Given the description of an element on the screen output the (x, y) to click on. 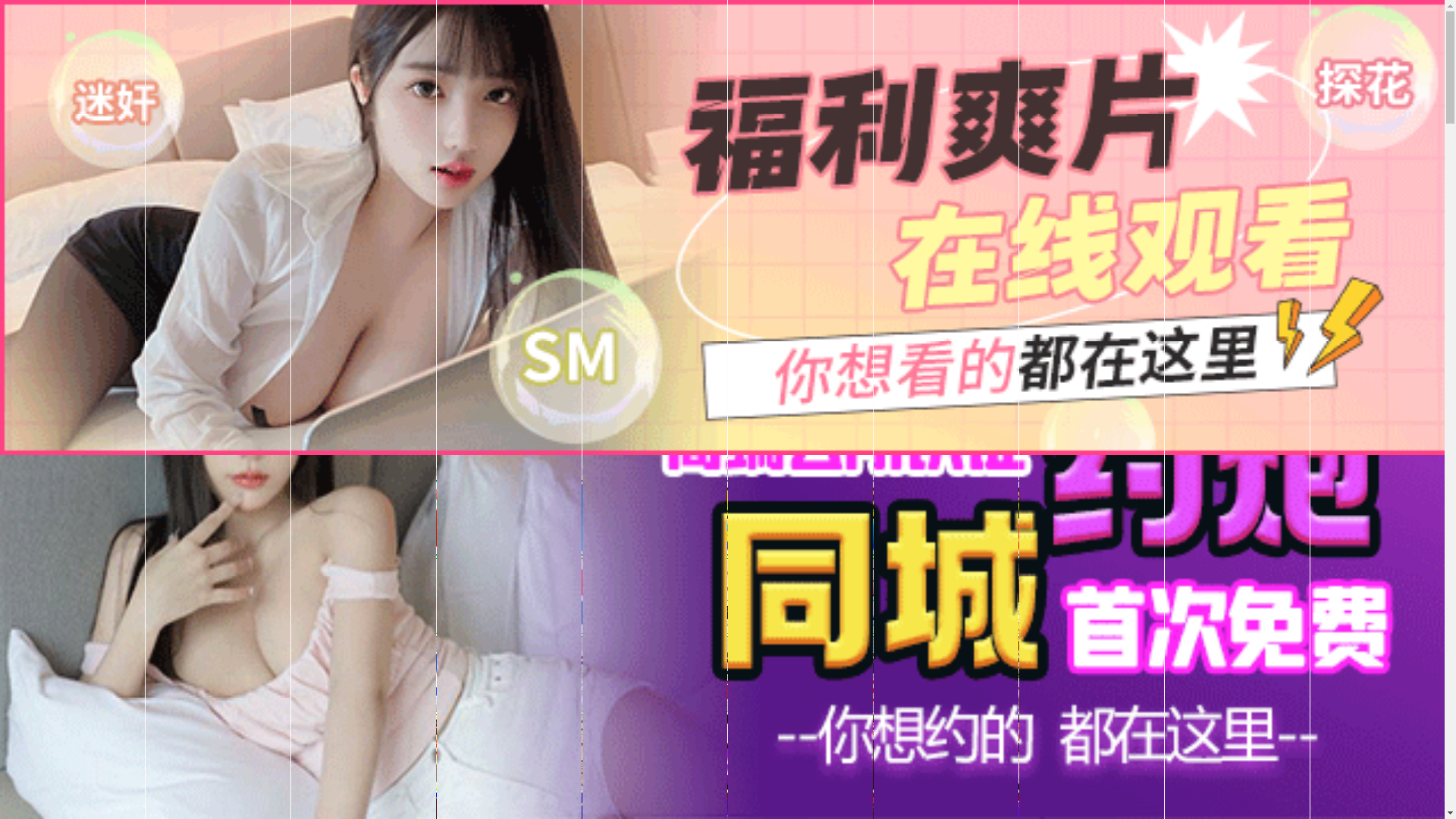
6686 Element type: hover (721, 552)
| Element type: text (788, 471)
| Element type: text (1068, 471)
6686 Element type: hover (721, 747)
| Element type: text (1399, 471)
| Element type: text (1287, 471)
| Element type: text (873, 471)
| Element type: text (1021, 471)
| Element type: text (833, 471)
| Element type: text (747, 471)
| Element type: text (1160, 471)
| Element type: text (975, 471)
| Element type: text (1442, 471)
| Element type: text (1343, 471)
| Element type: text (913, 471)
| Element type: text (1110, 471)
6686 Element type: hover (721, 669)
| Element type: text (1216, 471)
| Element type: text (1251, 471)
| Element type: text (722, 471)
